Given the description of an element on the screen output the (x, y) to click on. 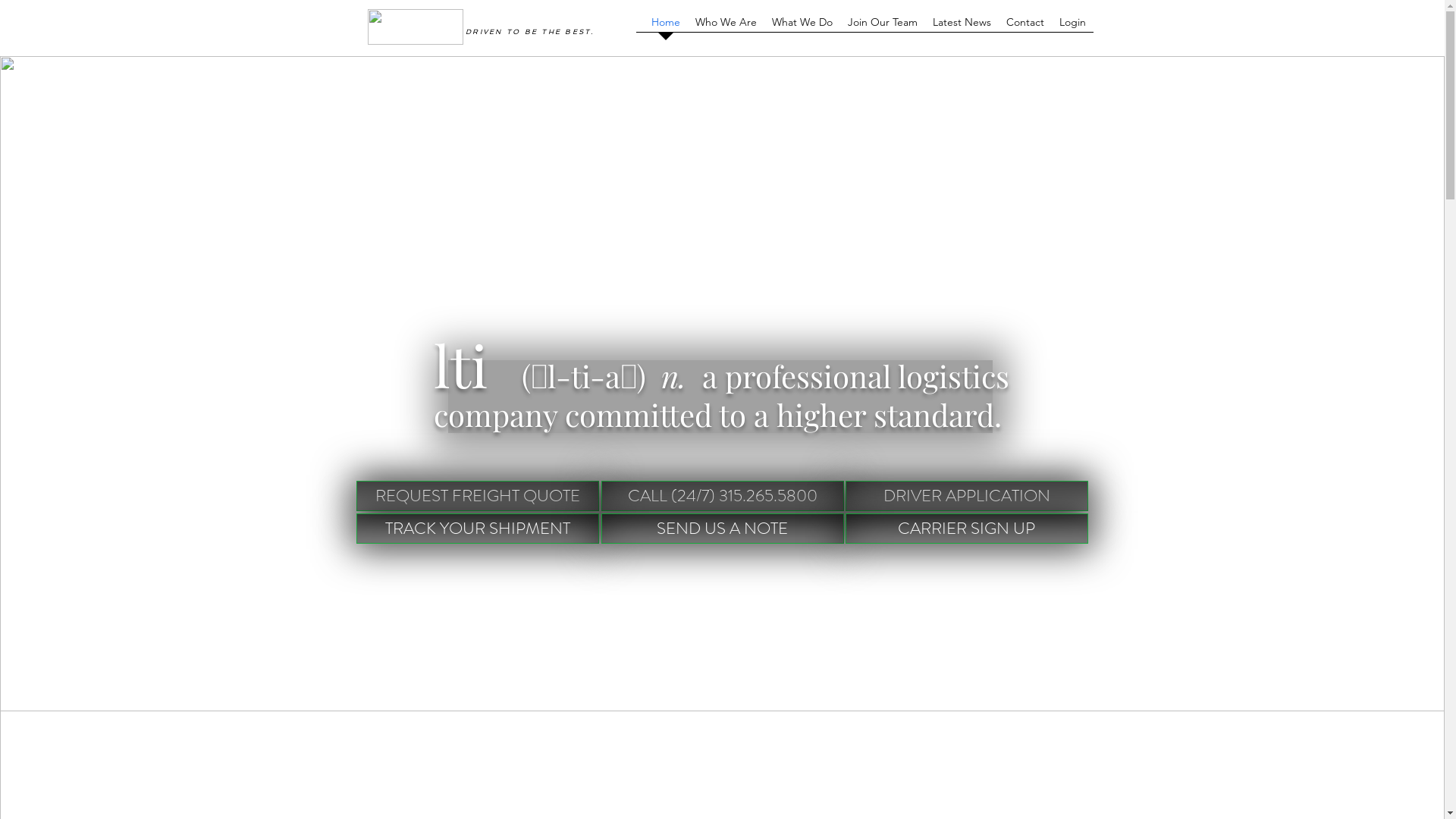
Button Element type: text (471, 31)
CARRIER SIGN UP Element type: text (965, 528)
Asset 1.png Element type: hover (414, 26)
REQUEST FREIGHT QUOTE Element type: text (477, 495)
DRIVER APPLICATION Element type: text (965, 495)
Who We Are Element type: text (725, 26)
SEND US A NOTE Element type: text (721, 528)
Contact Element type: text (1024, 26)
CALL (24/7) 315.265.5800 Element type: text (721, 495)
TRACK YOUR SHIPMENT Element type: text (477, 528)
Latest News Element type: text (961, 26)
Join Our Team Element type: text (882, 26)
Home Element type: text (665, 26)
What We Do Element type: text (802, 26)
